Given the description of an element on the screen output the (x, y) to click on. 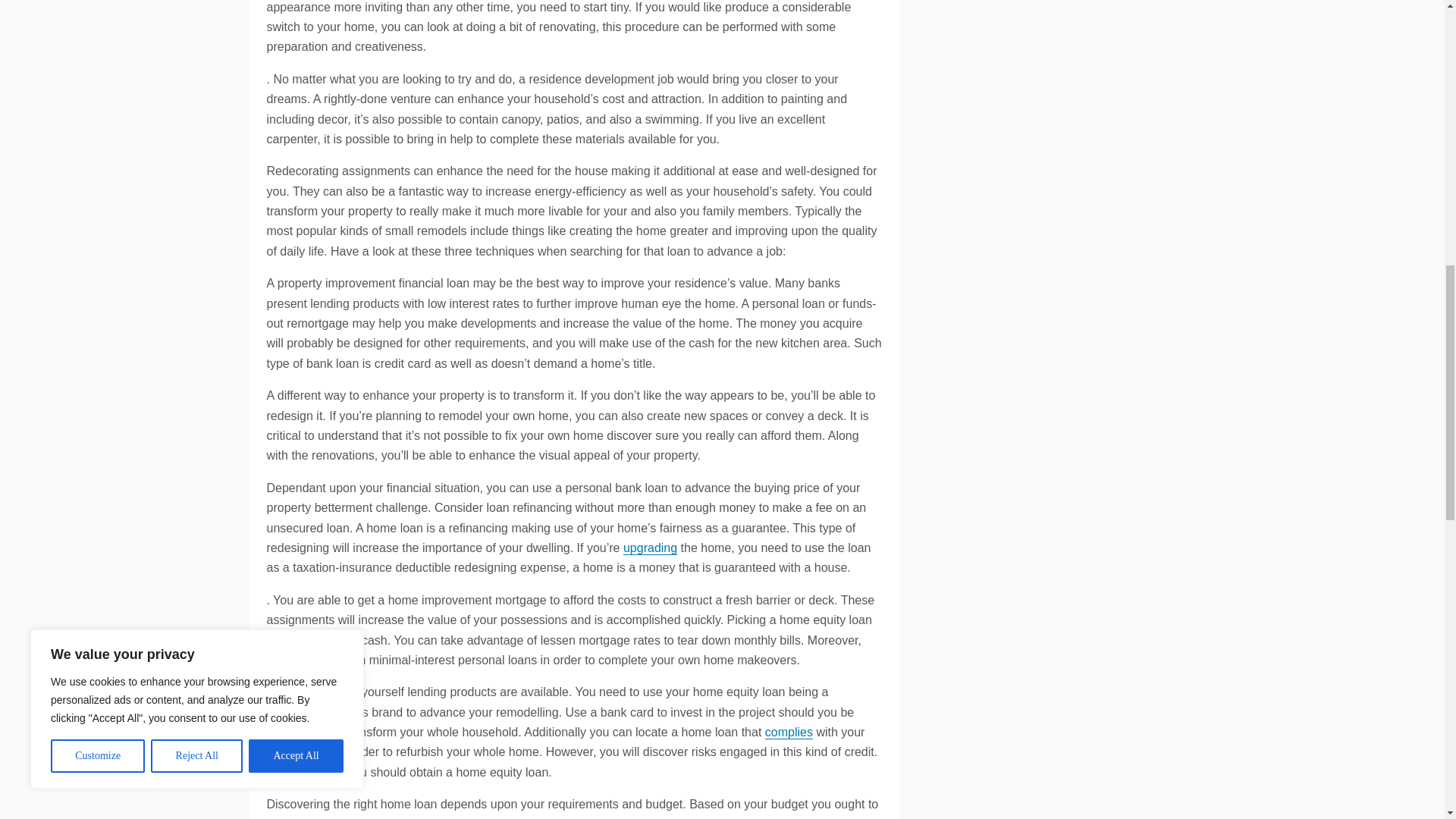
upgrading (650, 547)
complies (788, 731)
household (294, 712)
